Given the description of an element on the screen output the (x, y) to click on. 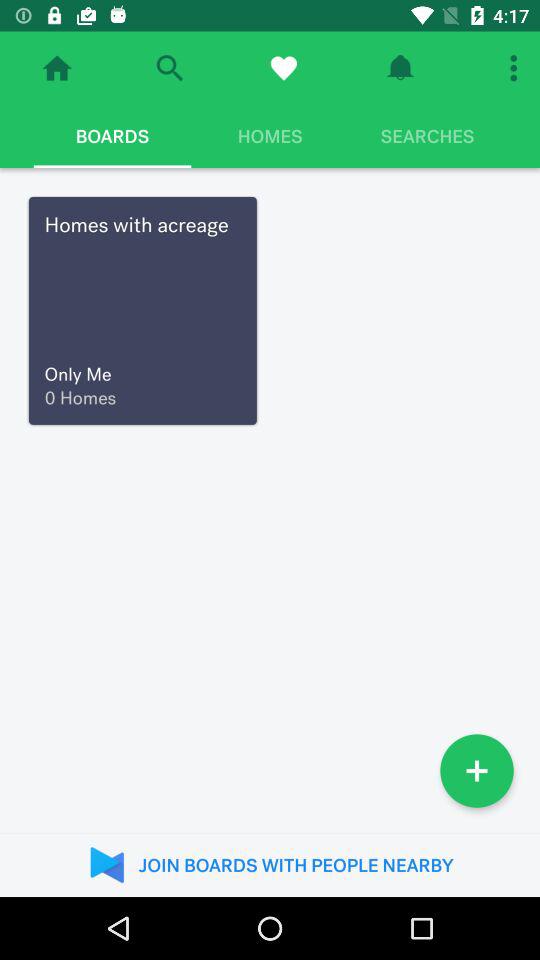
search tool (169, 68)
